Given the description of an element on the screen output the (x, y) to click on. 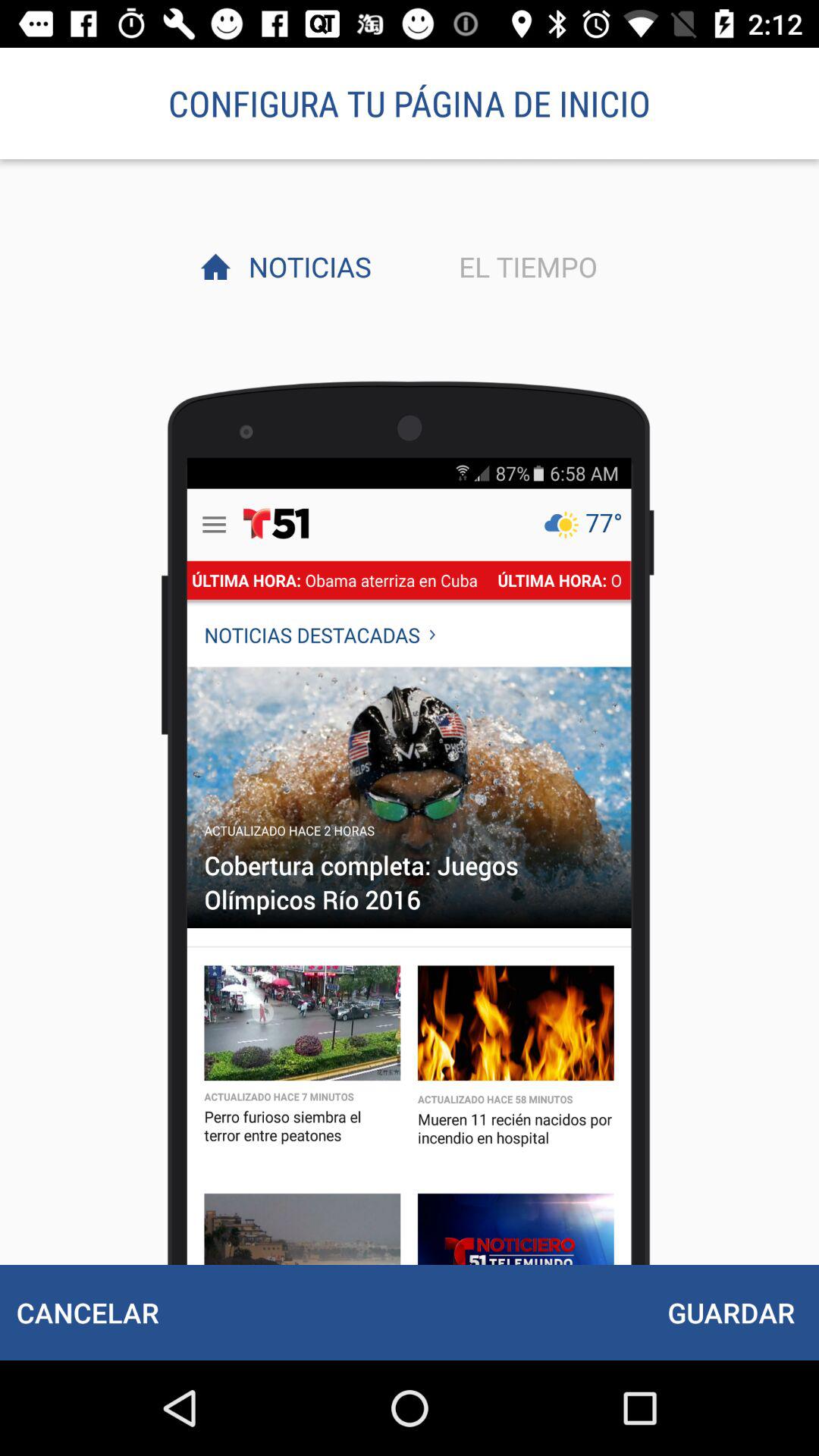
open the icon below el tiempo item (731, 1312)
